Given the description of an element on the screen output the (x, y) to click on. 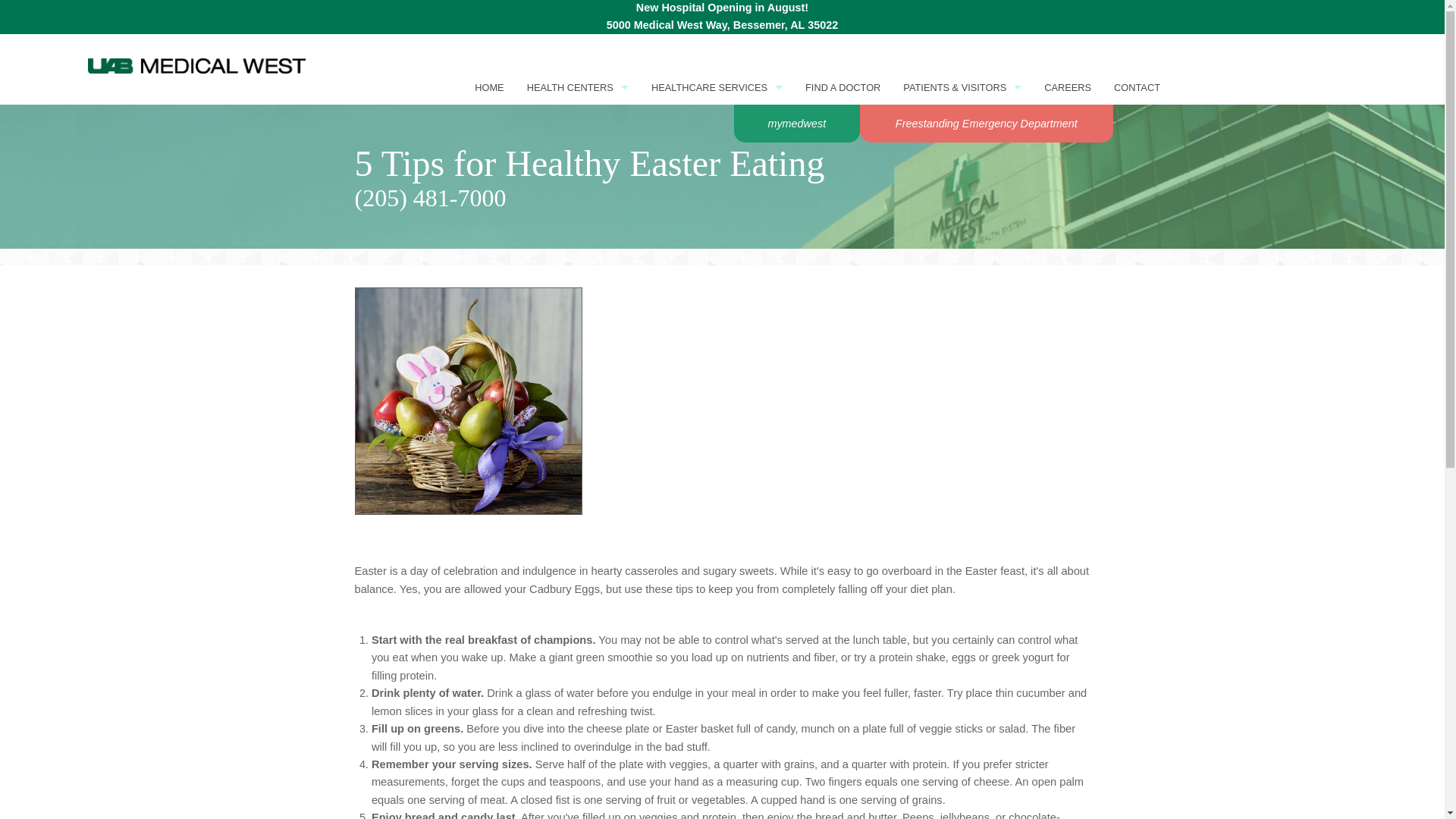
MEDICAL WEST HOOVER HEALTH CENTER (577, 366)
MEDICAL WEST BROCKS GAP HEALTH CENTER (577, 226)
DIAGNOSTIC IMAGING (716, 226)
GERIATRIC PSYCHIATRY (716, 366)
SLEEP CENTER (716, 435)
MEDICAL WEST TANNEHILL HEALTH CENTER (577, 645)
MEDICAL WEST GASTROENTEROLOGY (577, 330)
HEALTHCARE SERVICES (716, 87)
MEDICAL WEST PULMONARY HEALTH CENTER (577, 610)
EMERGENCY SERVICES (716, 261)
MEDICAL WEST VANCE HEALTH CENTER (577, 679)
MEDICAL WEST BESSEMER CLINIC (577, 156)
FIND A DOCTOR (842, 87)
COMMUNITY PROGRAMS (716, 191)
MEDICAL WEST NEUROLOGY HEALTH CENTER (577, 470)
